Given the description of an element on the screen output the (x, y) to click on. 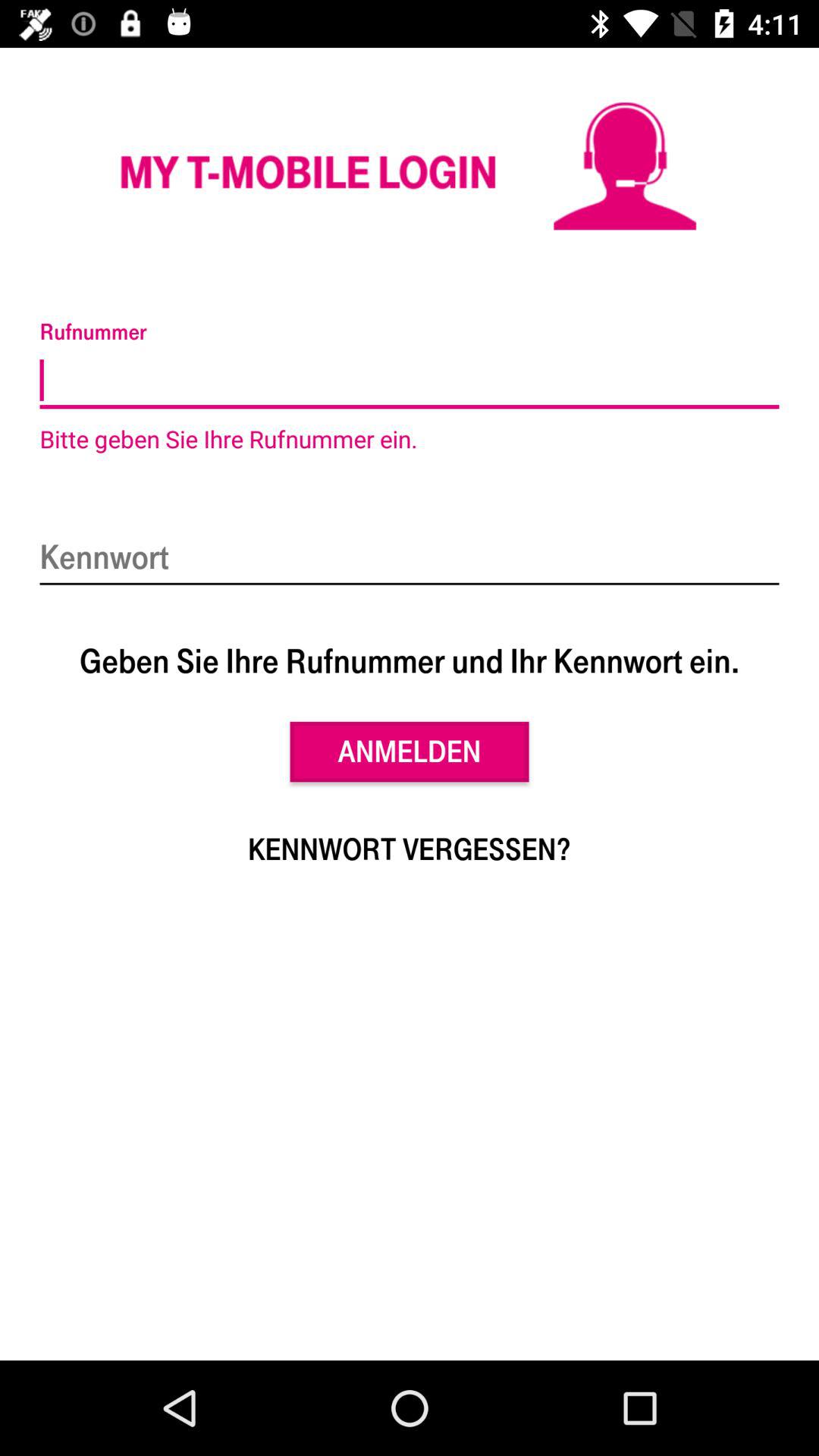
open item below bitte geben sie app (409, 558)
